Given the description of an element on the screen output the (x, y) to click on. 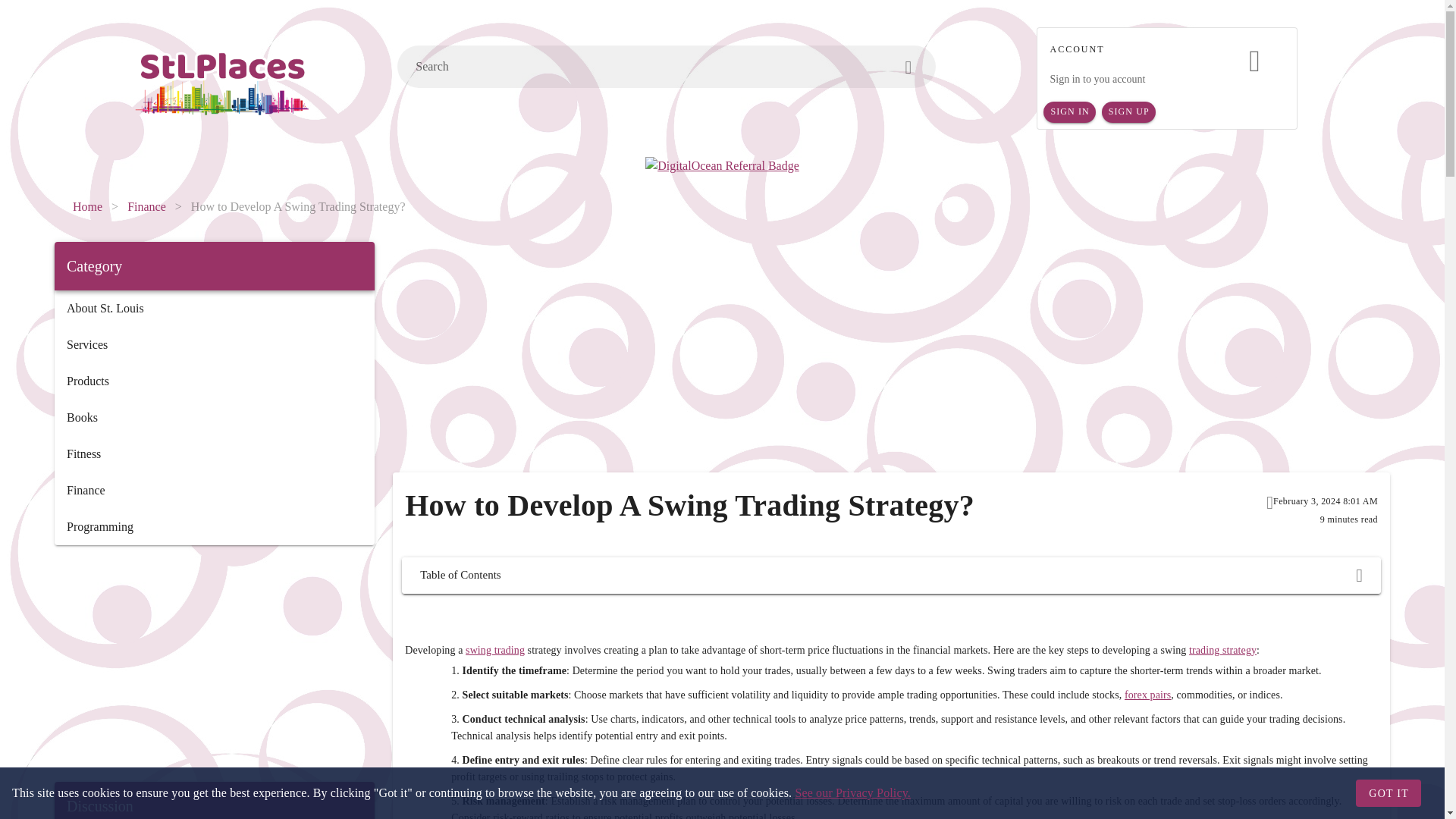
trading strategy (1222, 650)
swing trading (494, 650)
Advertisement (214, 663)
forex pairs (1147, 695)
Programming (214, 526)
SIGN IN (1068, 111)
Home (86, 207)
How to Develop A Swing Trading Strategy? (298, 207)
SIGN UP (1129, 111)
Books (214, 417)
